Given the description of an element on the screen output the (x, y) to click on. 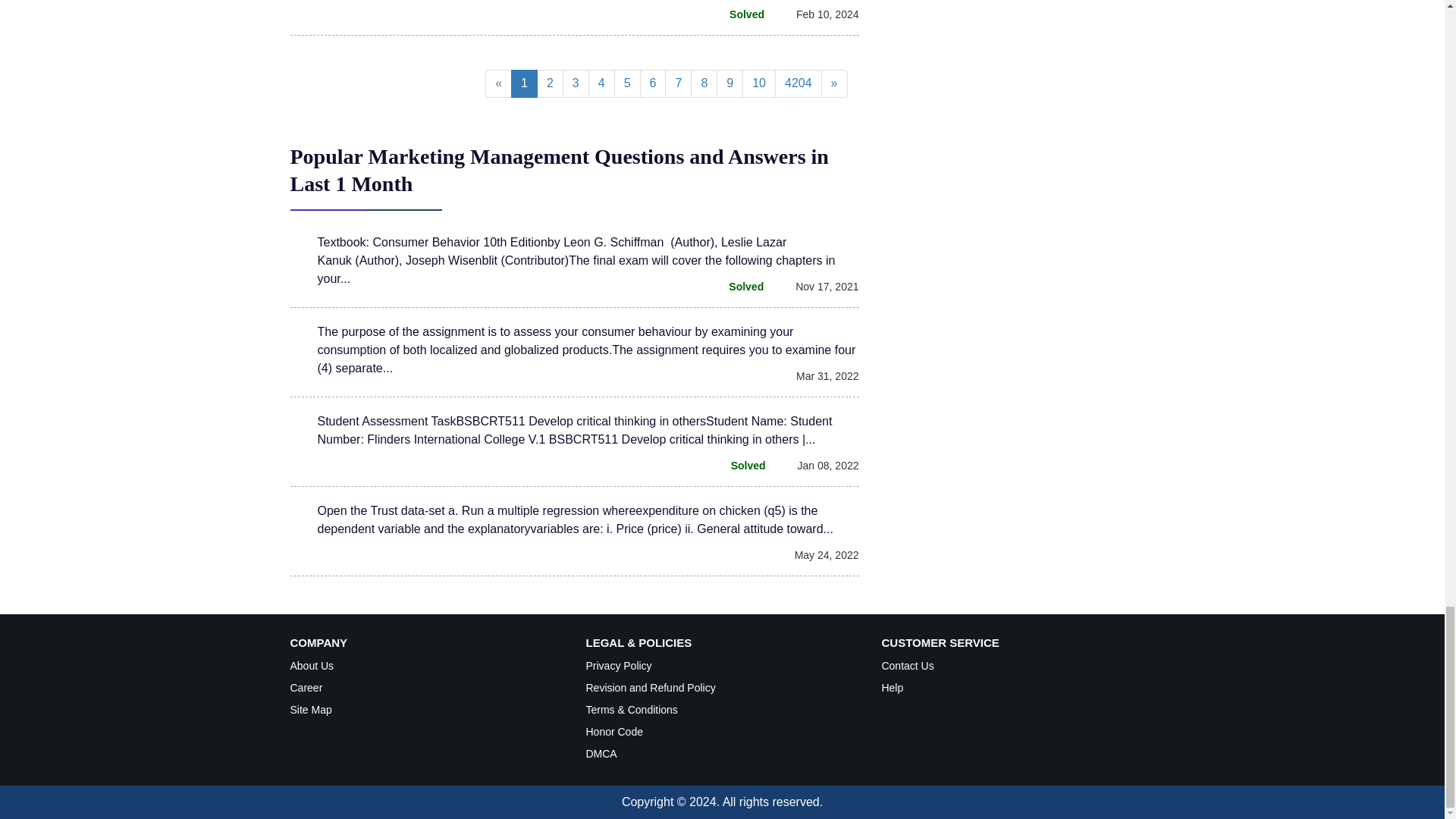
Posted On (818, 13)
solved (738, 13)
solved (736, 286)
